Given the description of an element on the screen output the (x, y) to click on. 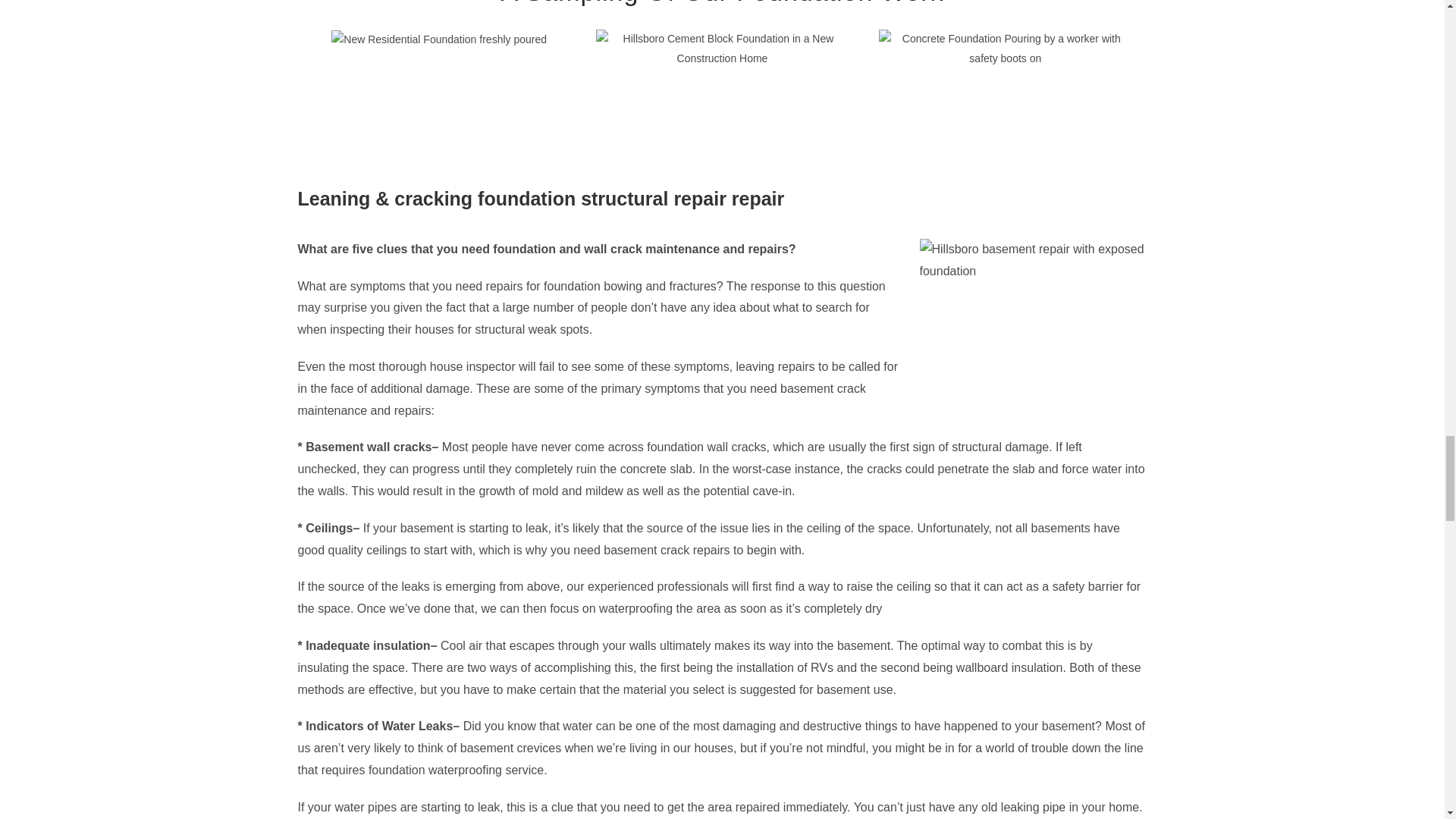
Concrete Foundation Pouring (1005, 48)
Cement Block Foundation (721, 48)
New Residential Foundation (439, 39)
